Given the description of an element on the screen output the (x, y) to click on. 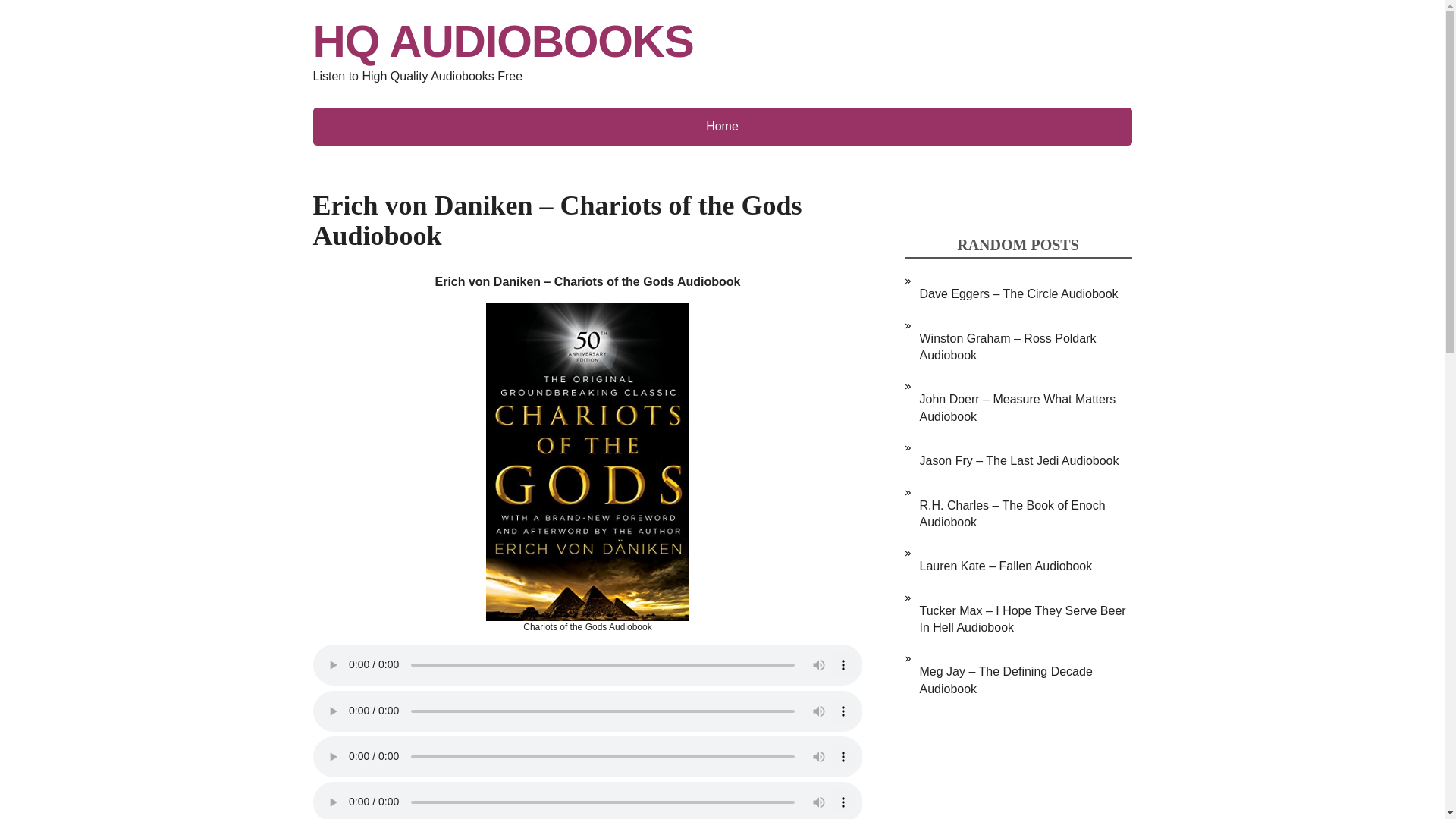
HQ AUDIOBOOKS (722, 41)
Home (722, 126)
